Given the description of an element on the screen output the (x, y) to click on. 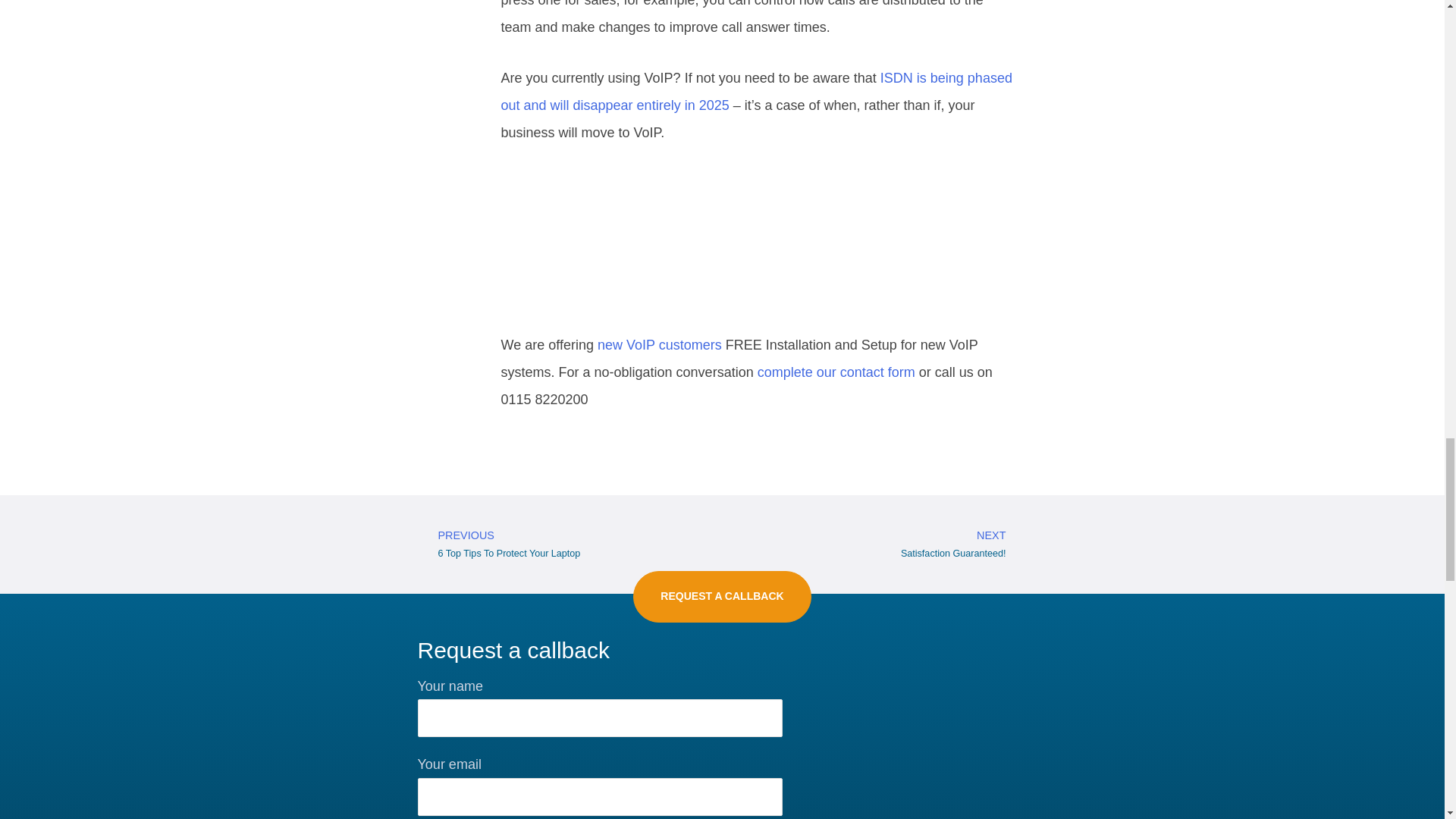
ISDN is being phased out and will disappear entirely in 2025 (755, 91)
complete our contact form (836, 372)
new VoIP customers (659, 344)
